Given the description of an element on the screen output the (x, y) to click on. 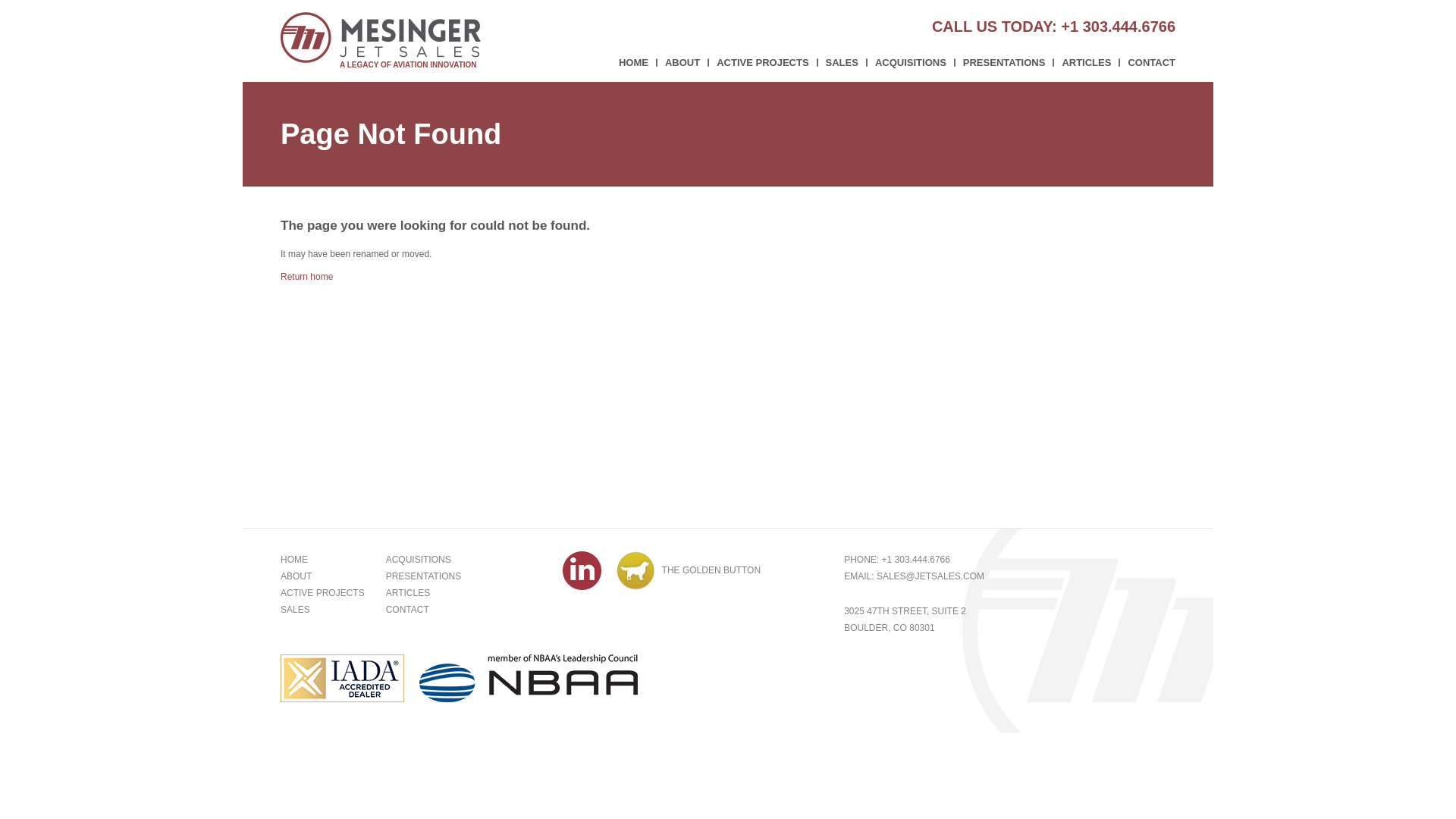
ACTIVE PROJECTS (323, 592)
PRESENTATIONS (427, 576)
CONTACT (1150, 62)
ACTIVE PROJECTS (762, 62)
ARTICLES (1086, 62)
ABOUT (682, 62)
NBAA Leadership Council Member (528, 677)
ACQUISITIONS (910, 62)
SALES (323, 609)
A LEGACY OF AVIATION INNOVATION (408, 64)
ARTICLES (427, 592)
THE GOLDEN BUTTON (687, 570)
ABOUT (323, 576)
Connect with us on LinkedIn (581, 570)
ACQUISITIONS (427, 559)
